Given the description of an element on the screen output the (x, y) to click on. 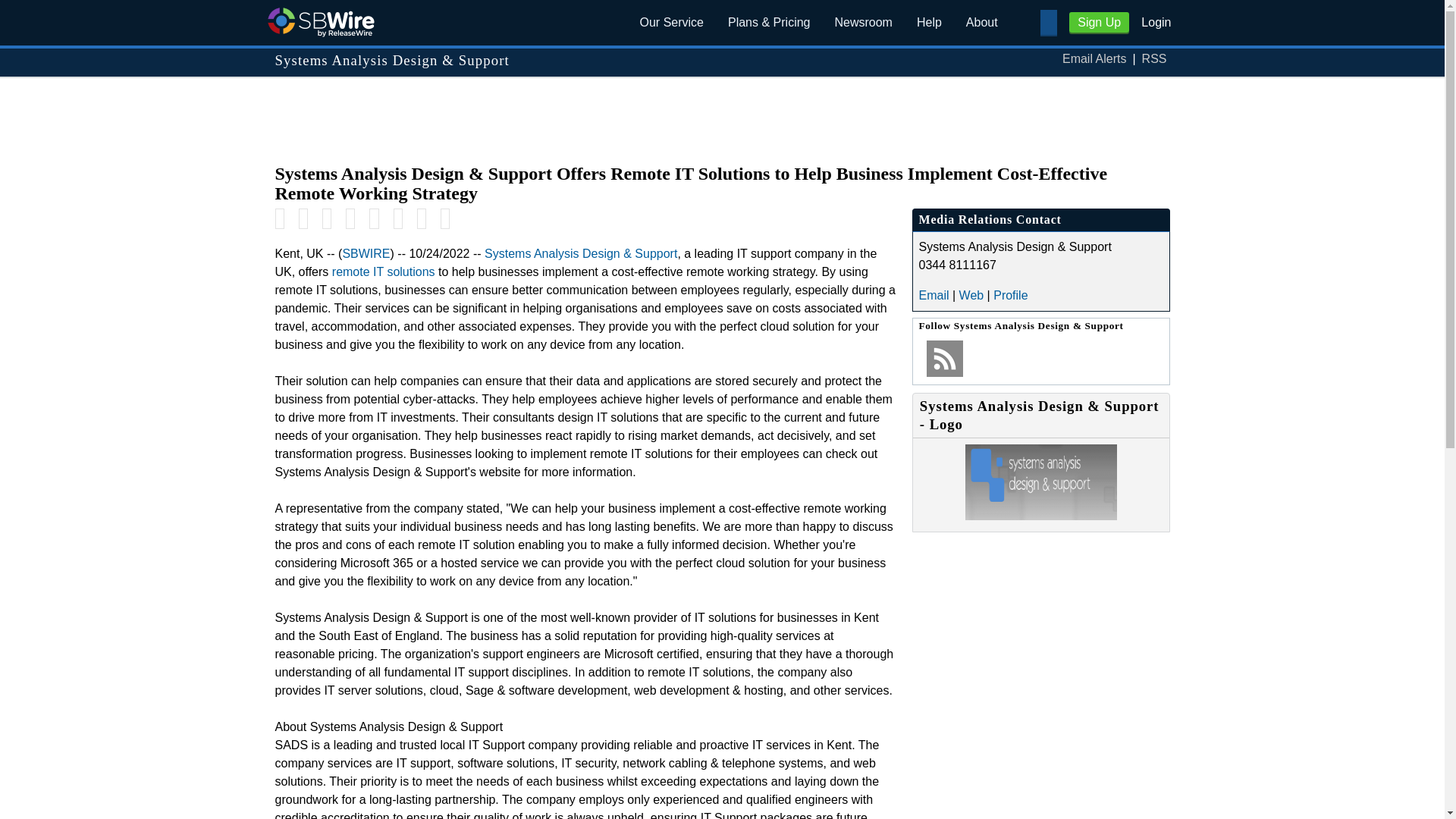
Profile (1009, 295)
About (981, 22)
remote IT solutions (383, 271)
Our Service (671, 22)
Web (971, 295)
Advertisement (721, 111)
Help (928, 22)
Newsroom (863, 22)
Sign Up (1098, 22)
SBWIRE (366, 253)
Email Alerts (1093, 58)
RSS (1154, 58)
SBWire (320, 21)
Login (1155, 21)
remote IT solutions (383, 271)
